Given the description of an element on the screen output the (x, y) to click on. 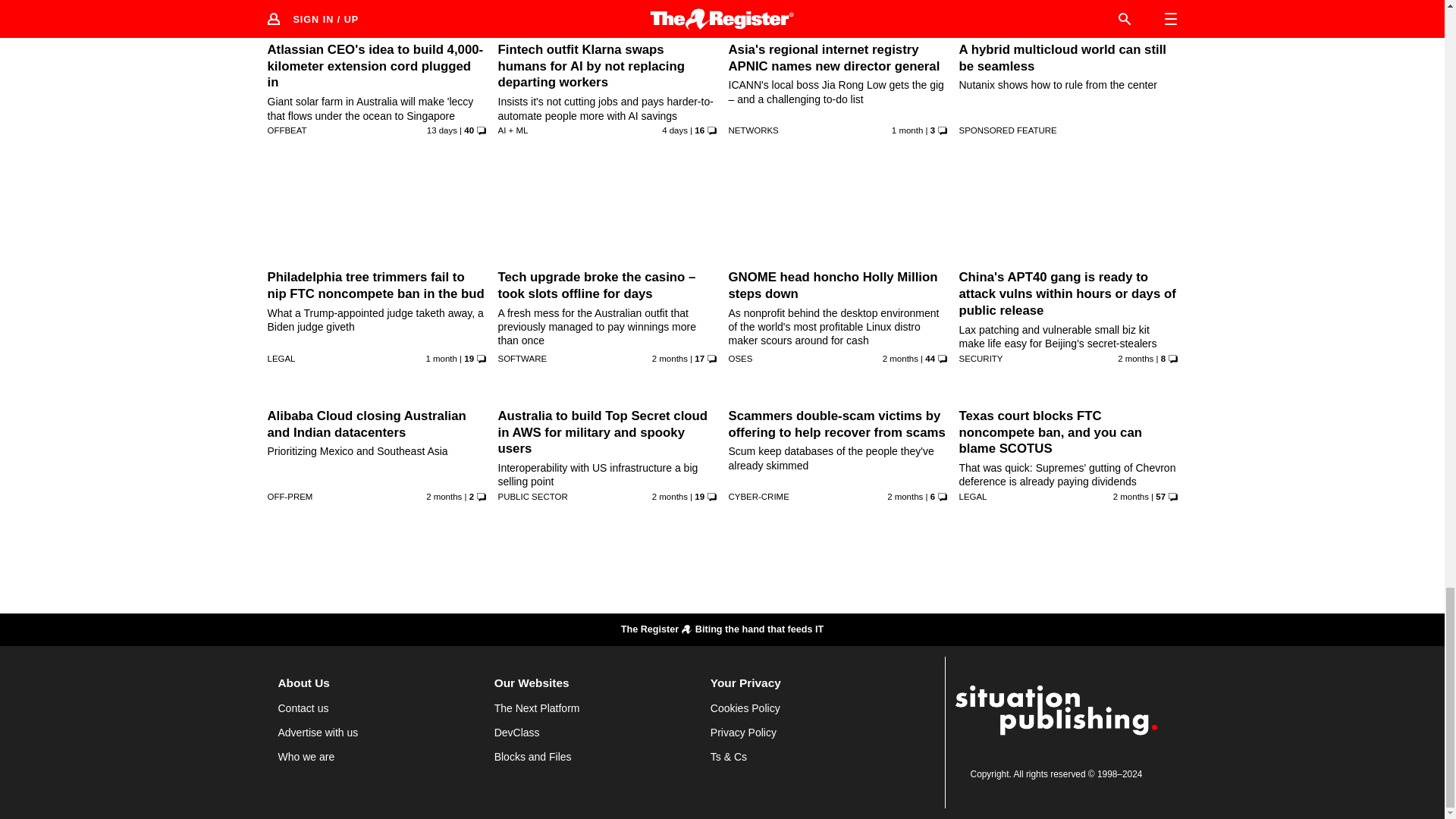
4 Jul 2024 3:58 (669, 496)
29 Aug 2024 13:32 (674, 130)
17 Jul 2024 9:28 (900, 358)
18 Jul 2024 3:3 (669, 358)
9 Jul 2024 2:33 (1135, 358)
24 Jul 2024 18:1 (441, 358)
31 Jul 2024 2:56 (907, 130)
1 Jul 2024 0:19 (443, 496)
21 Aug 2024 5:32 (441, 130)
